Given the description of an element on the screen output the (x, y) to click on. 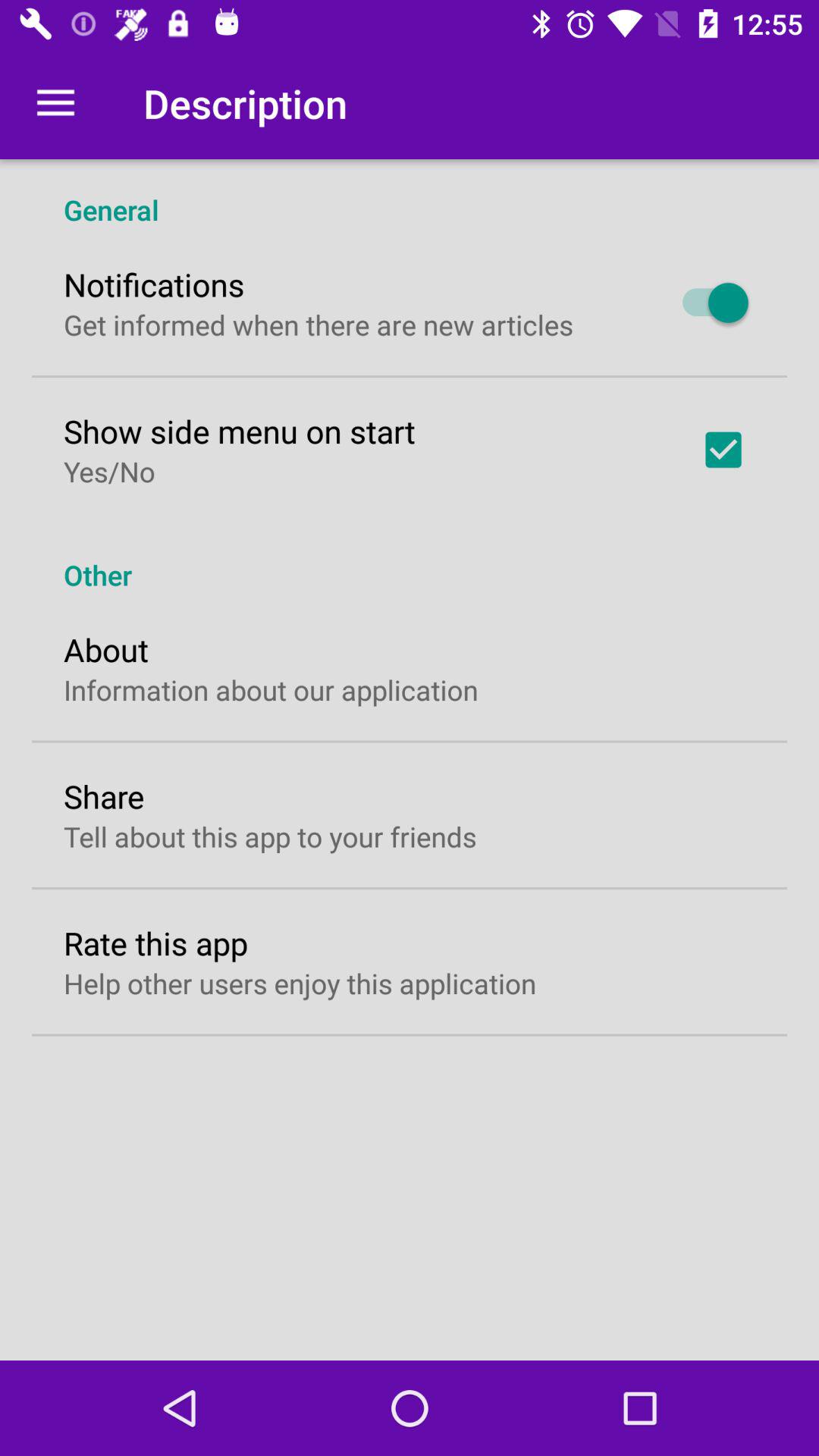
press help other users item (299, 983)
